Given the description of an element on the screen output the (x, y) to click on. 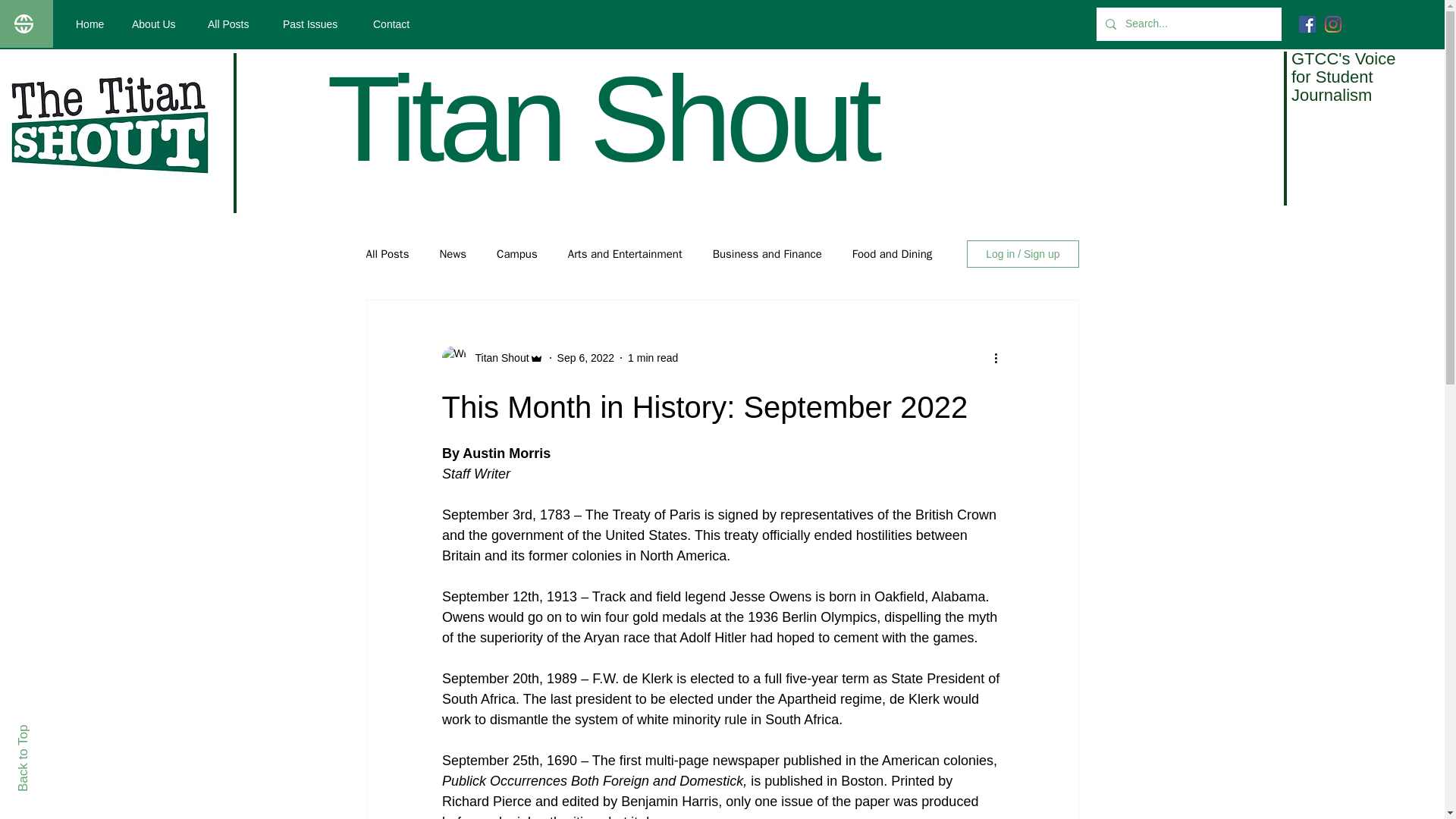
Campus (516, 254)
About Us (158, 24)
Food and Dining (891, 254)
All Posts (233, 24)
Contact (395, 24)
1 min read (652, 357)
Sep 6, 2022 (585, 357)
Business and Finance (767, 254)
Arts and Entertainment (624, 254)
Home (92, 24)
